Given the description of an element on the screen output the (x, y) to click on. 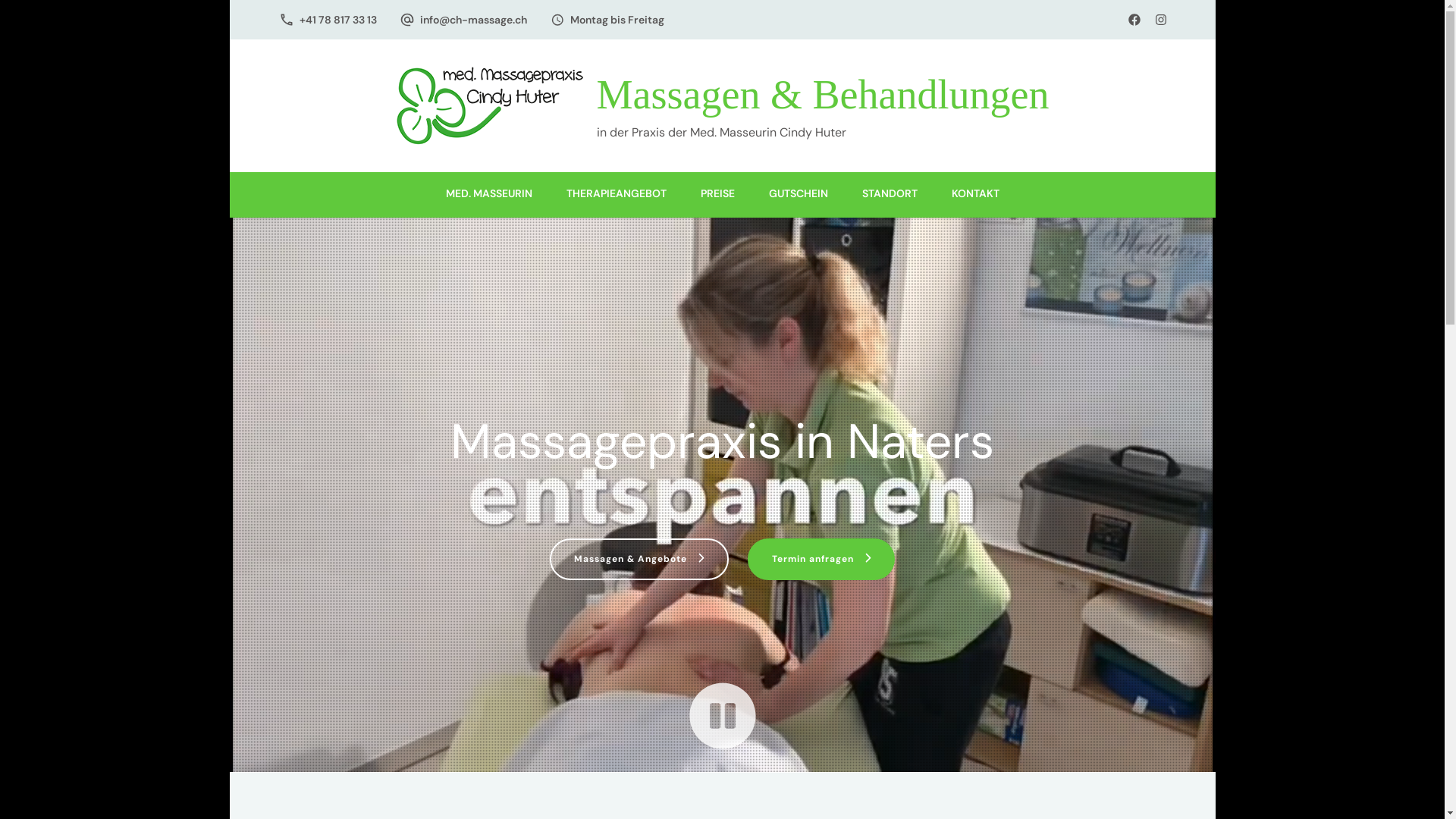
Massagen & Angebote Element type: text (638, 559)
GUTSCHEIN Element type: text (798, 194)
info@ch-massage.ch Element type: text (473, 19)
Massagen & Behandlungen Element type: text (822, 94)
+41 78 817 33 13 Element type: text (337, 19)
PREISE Element type: text (717, 194)
MED. MASSEURIN Element type: text (488, 194)
THERAPIEANGEBOT Element type: text (615, 194)
STANDORT Element type: text (888, 194)
PAUSE Element type: text (722, 715)
KONTAKT Element type: text (974, 194)
Termin anfragen Element type: text (820, 559)
